Given the description of an element on the screen output the (x, y) to click on. 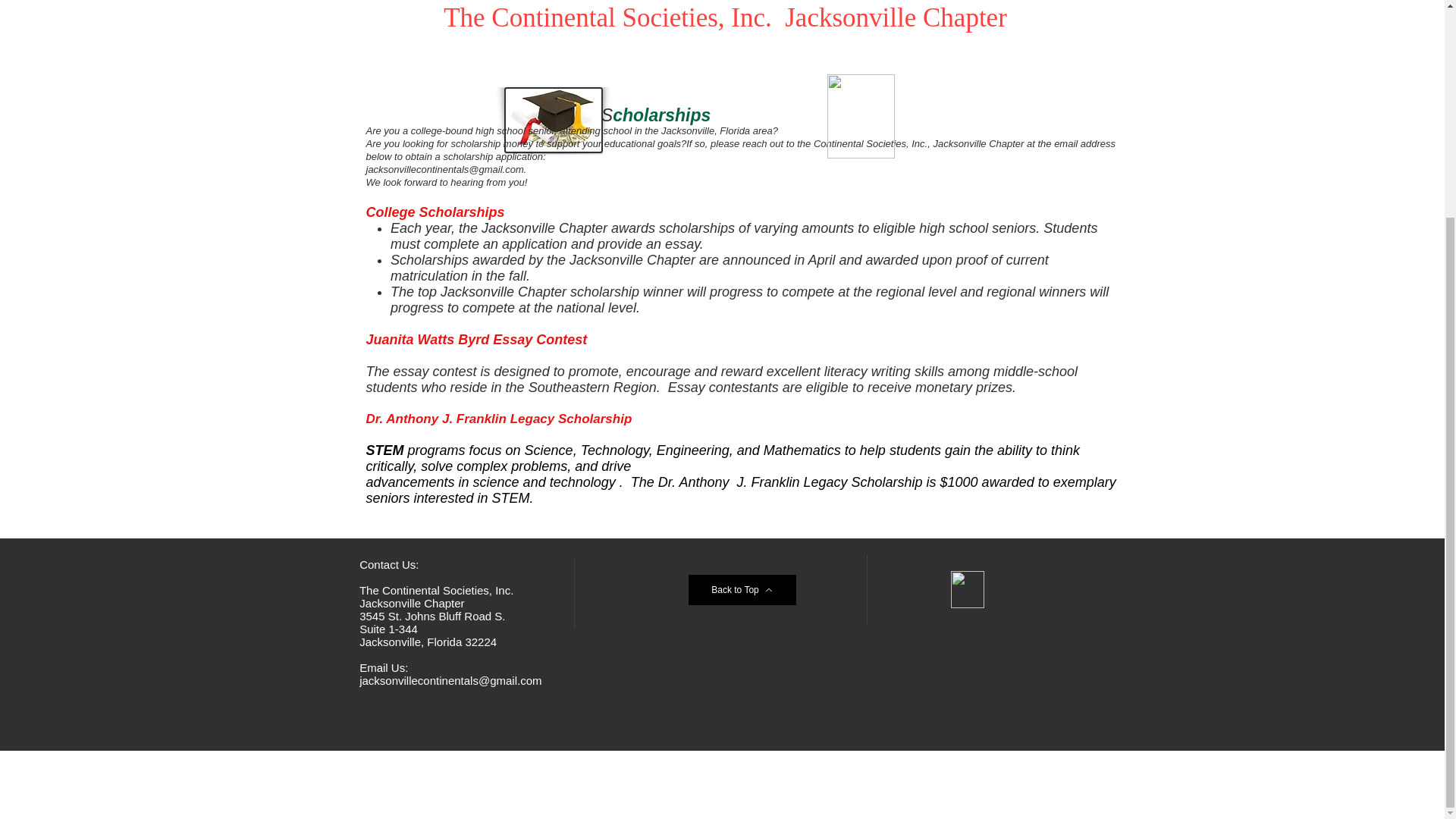
The Continental Societies, Inc.  Jacksonville Chapter (725, 17)
Back to Top (742, 589)
